Given the description of an element on the screen output the (x, y) to click on. 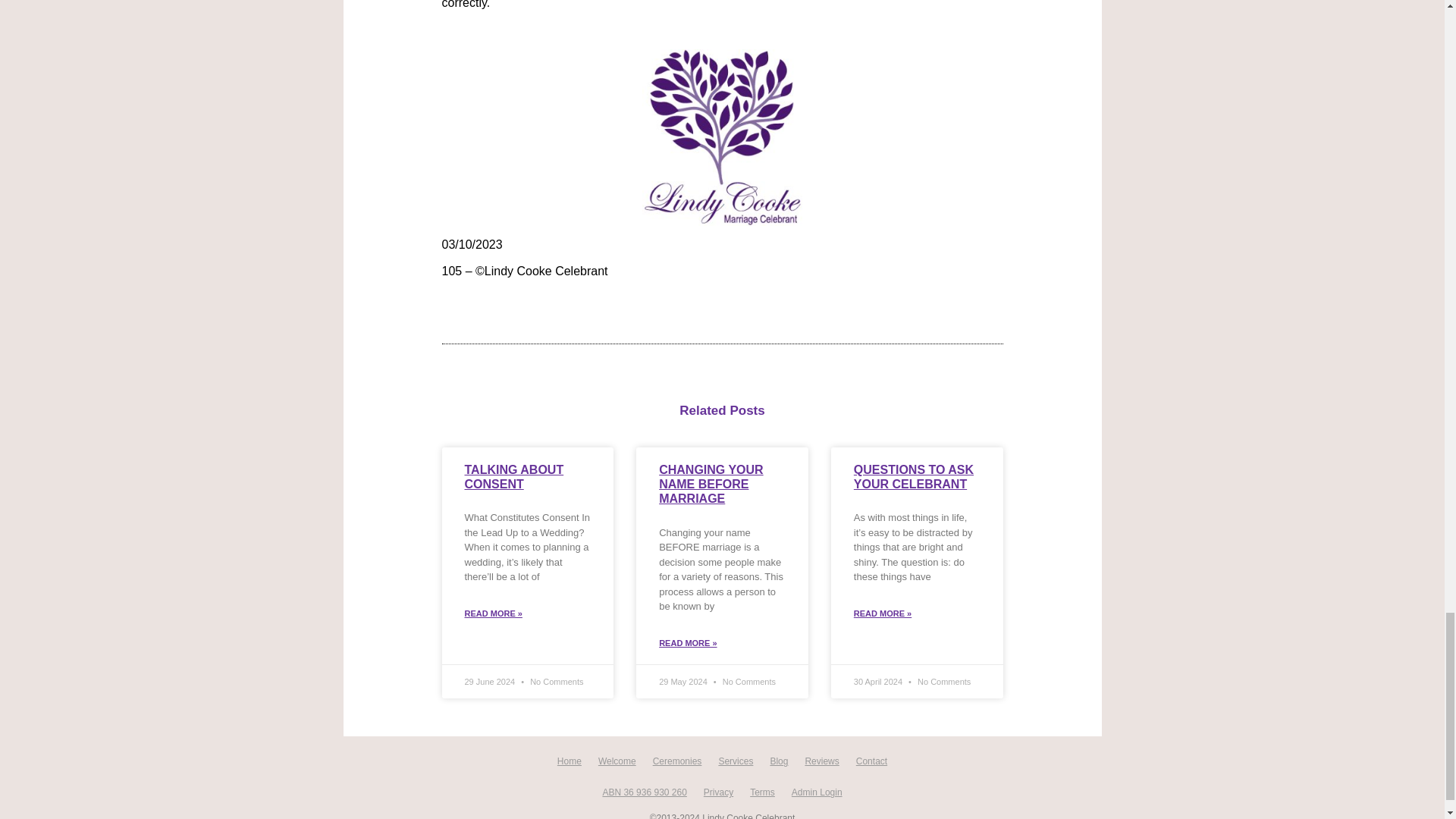
Blog (778, 760)
Home (568, 760)
QUESTIONS TO ASK YOUR CELEBRANT (913, 476)
CHANGING YOUR NAME BEFORE MARRIAGE (710, 484)
TALKING ABOUT CONSENT (513, 476)
Ceremonies (677, 760)
Welcome (617, 760)
Contact (871, 760)
Reviews (821, 760)
Services (735, 760)
